Given the description of an element on the screen output the (x, y) to click on. 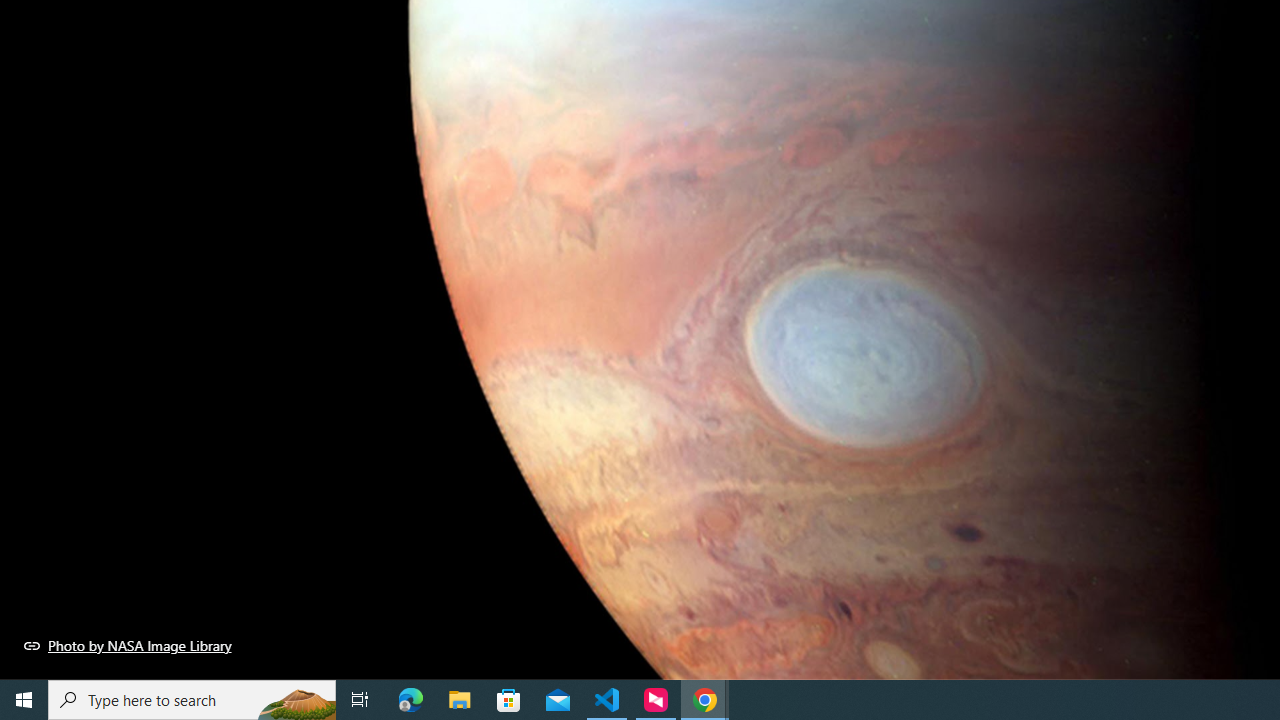
Photo by NASA Image Library (127, 645)
